Given the description of an element on the screen output the (x, y) to click on. 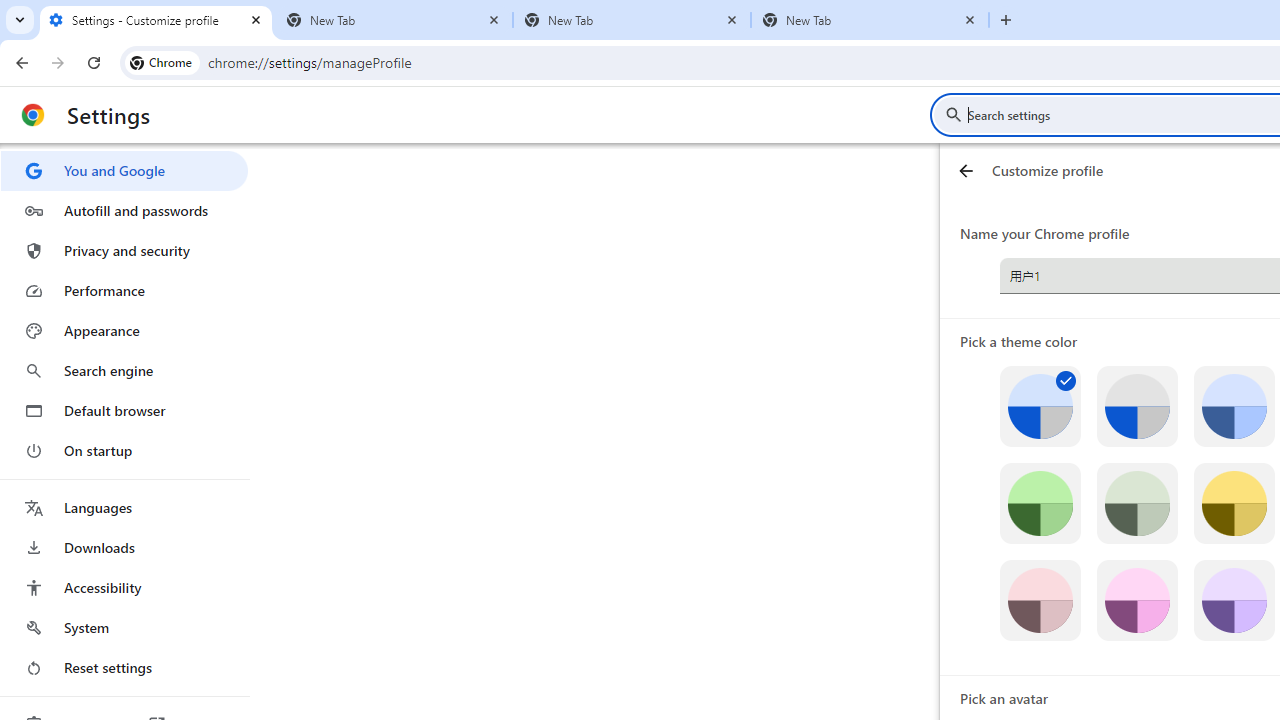
Performance (124, 290)
On startup (124, 450)
Languages (124, 507)
Default browser (124, 410)
Privacy and security (124, 250)
Accessibility (124, 587)
New Tab (632, 20)
Search engine (124, 370)
